Given the description of an element on the screen output the (x, y) to click on. 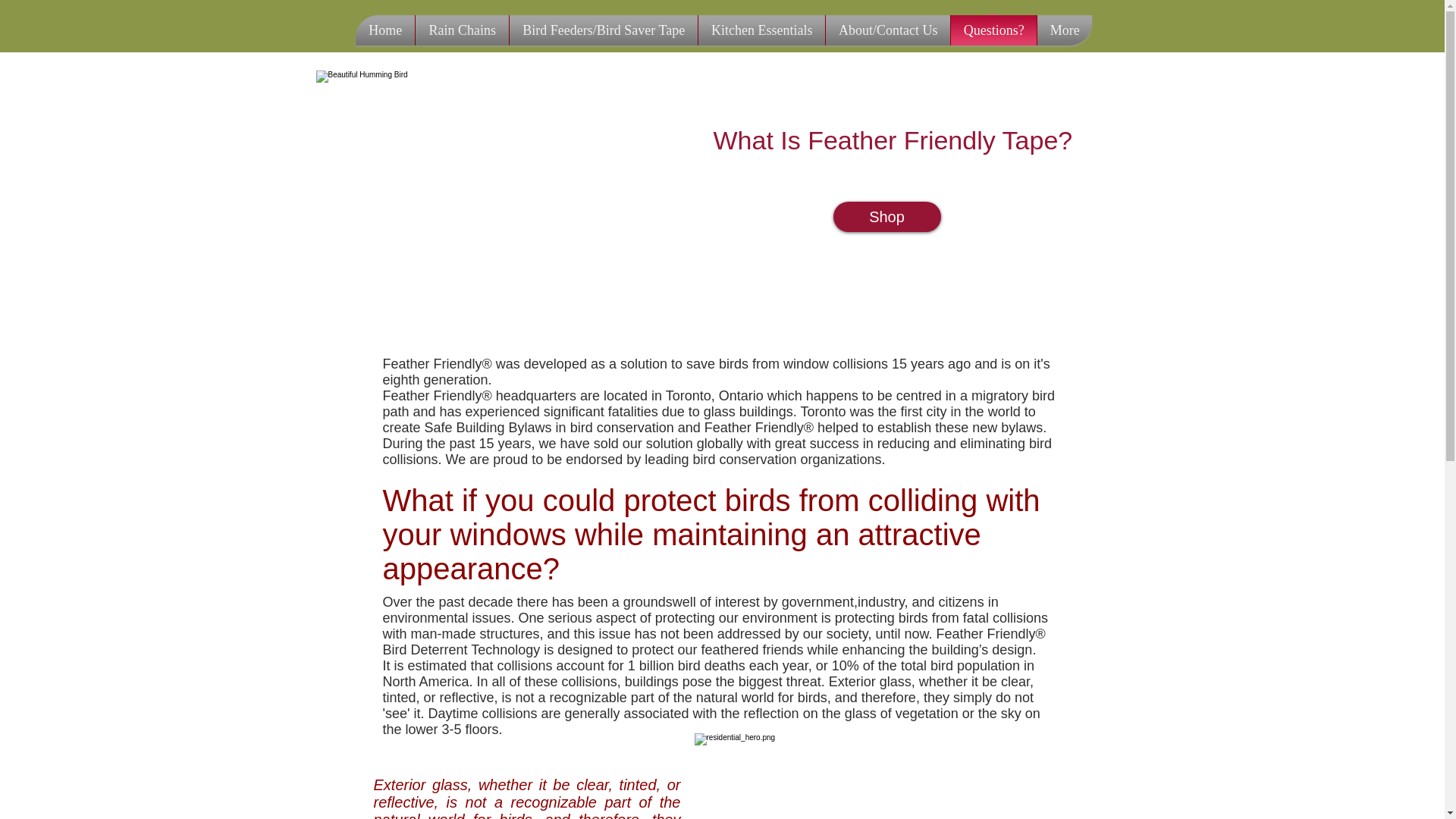
Rain Chains (461, 30)
Shop (886, 216)
More (1064, 30)
Home (384, 30)
Log In (1014, 23)
Questions? (993, 30)
Kitchen Essentials (761, 30)
